Given the description of an element on the screen output the (x, y) to click on. 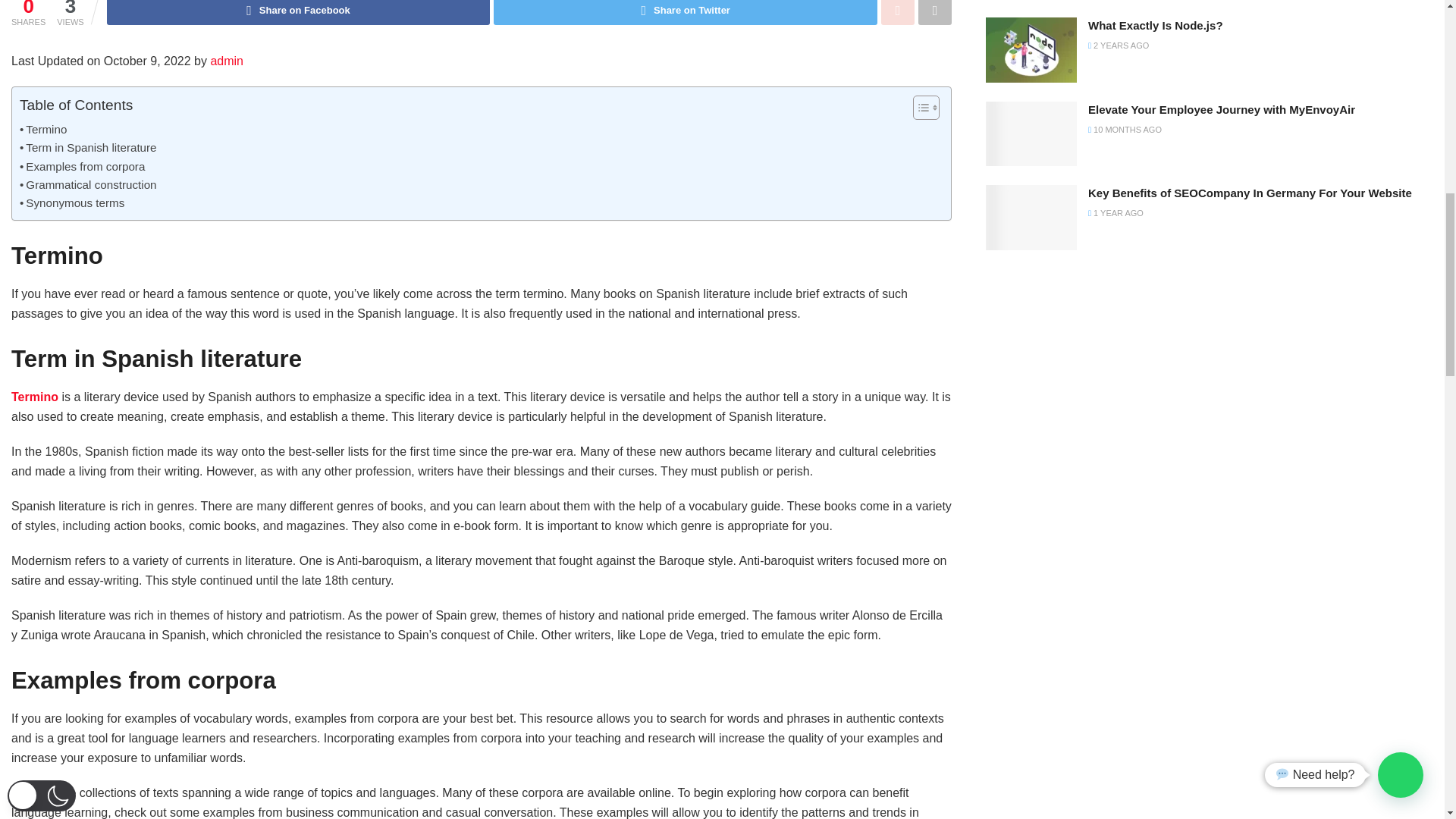
Share on Facebook (298, 12)
Term in Spanish literature (88, 147)
Grammatical construction (88, 185)
Share on Twitter (685, 12)
Termino (43, 129)
Synonymous terms (71, 203)
Examples from corpora (82, 167)
